Given the description of an element on the screen output the (x, y) to click on. 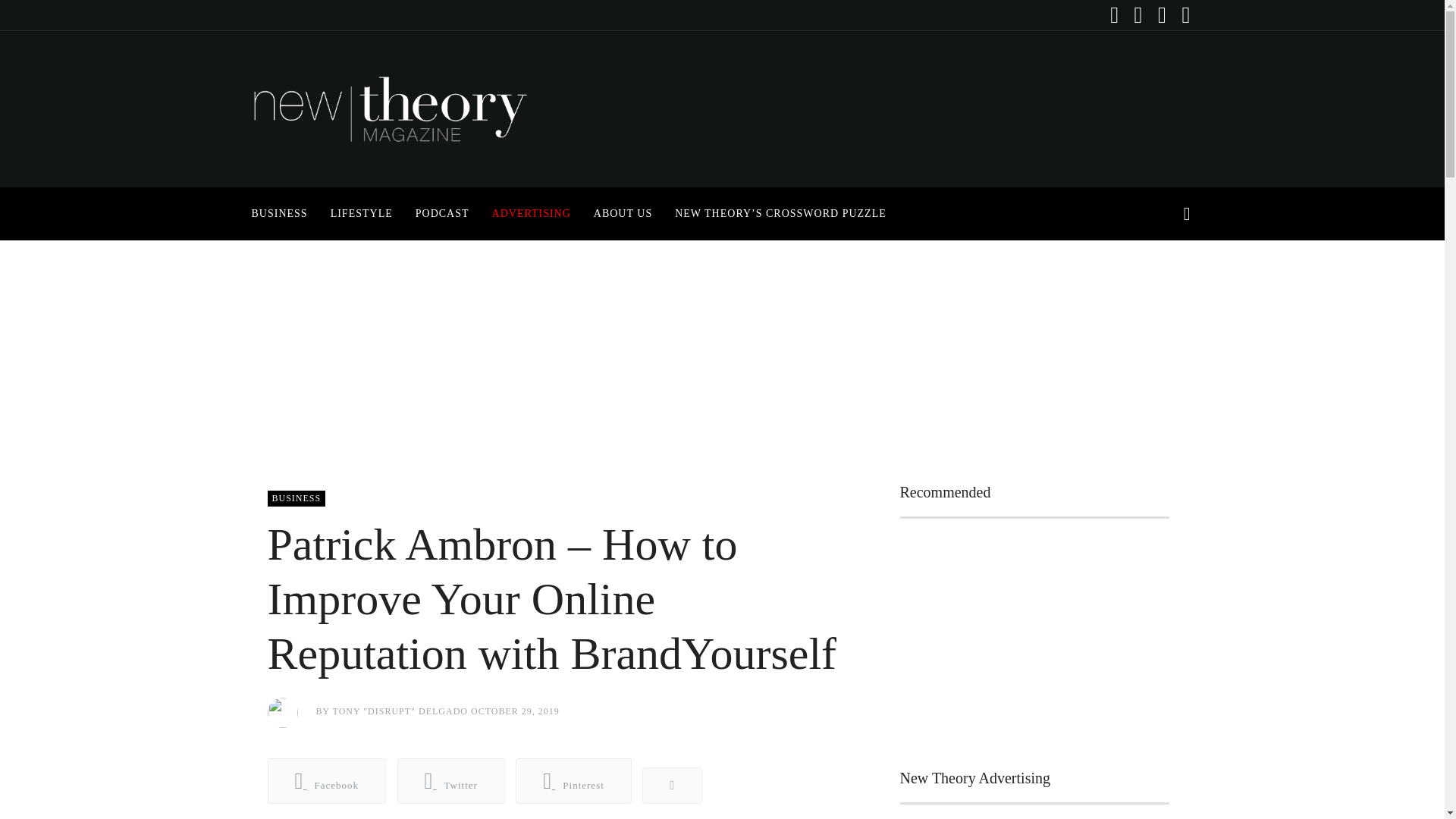
View all posts in 3845 (295, 498)
Advertisement (1034, 639)
